Given the description of an element on the screen output the (x, y) to click on. 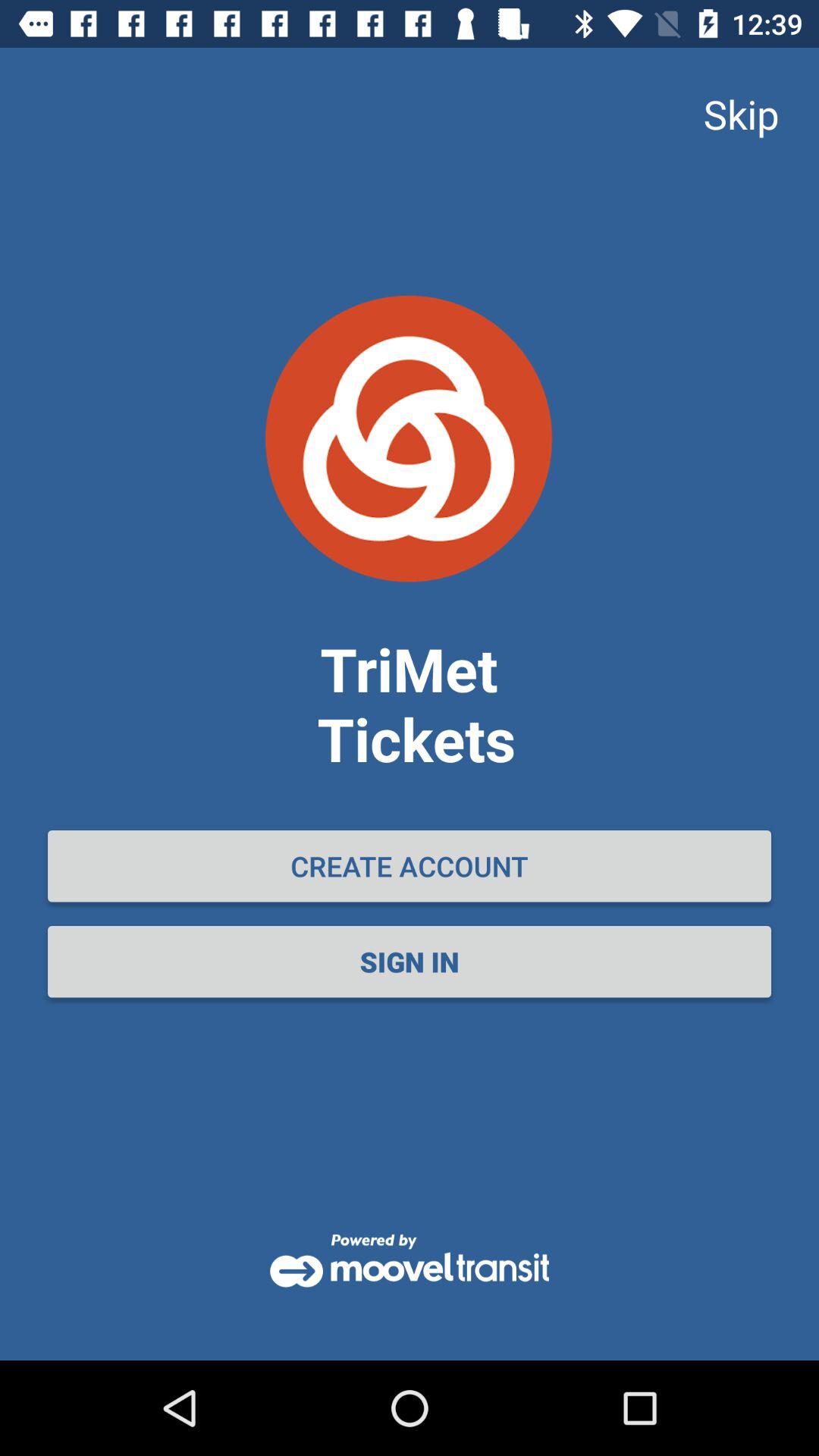
press item above the create account icon (741, 113)
